Given the description of an element on the screen output the (x, y) to click on. 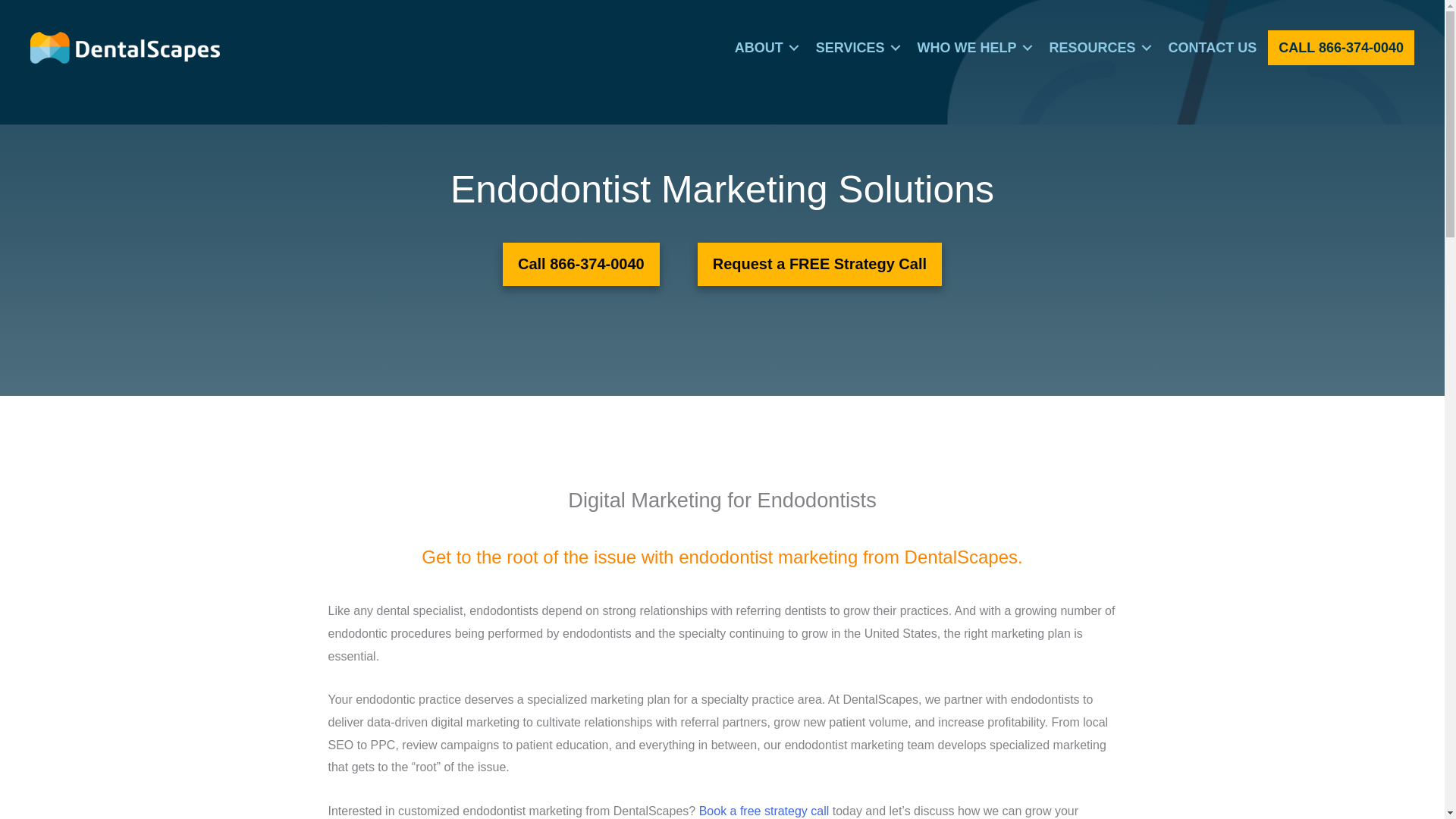
CONTACT US (1212, 47)
WHO WE HELP (972, 47)
RESOURCES (1098, 47)
Call 866-374-0040 (580, 263)
ABOUT (764, 47)
Book a free strategy call (763, 810)
SERVICES (855, 47)
Request a FREE Strategy Call (819, 263)
CALL 866-374-0040 (1340, 47)
